Given the description of an element on the screen output the (x, y) to click on. 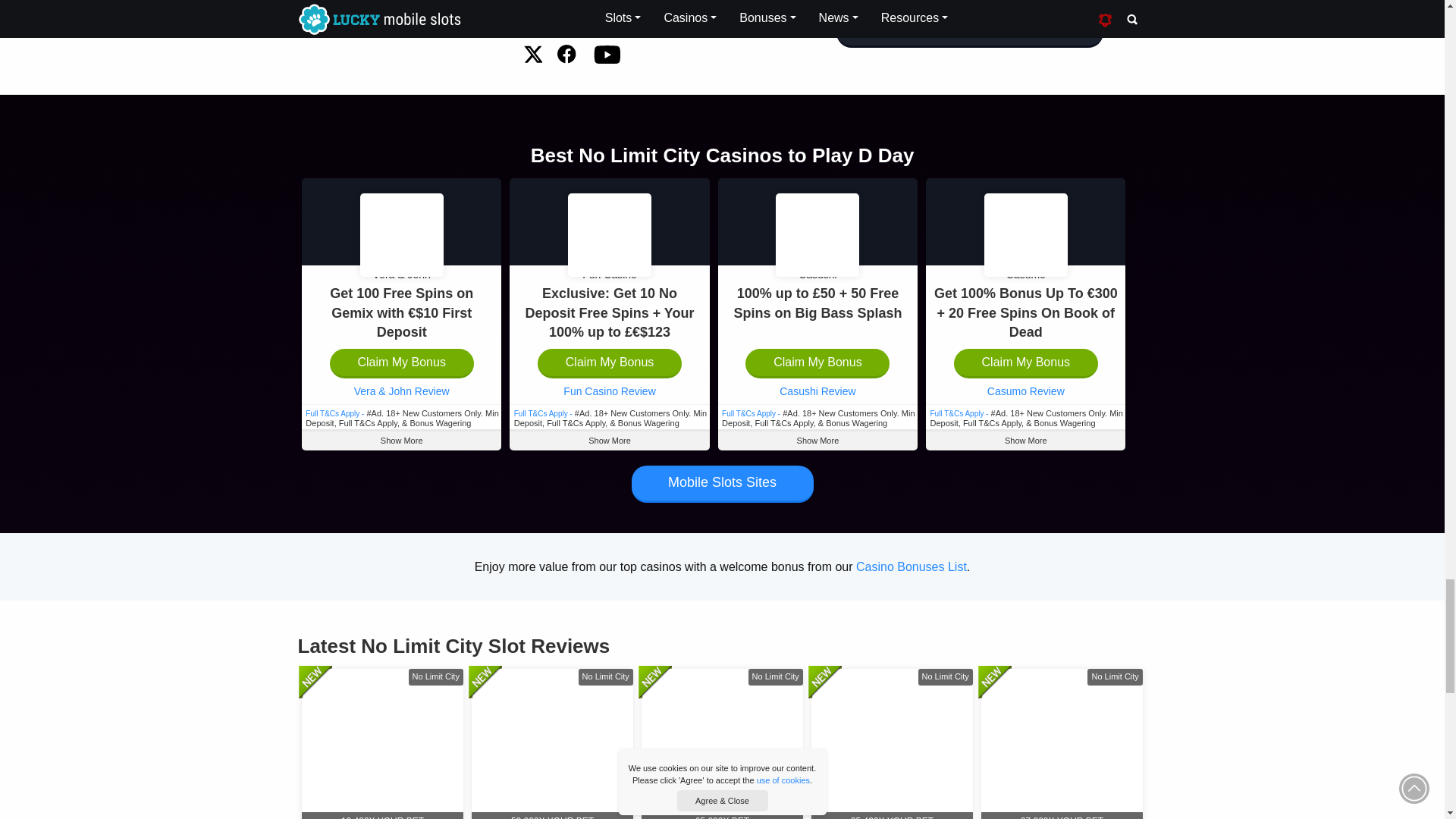
LMS Slot Videos (606, 53)
Tweet it Feline Friend! (531, 54)
Share The Wealth (566, 54)
